Given the description of an element on the screen output the (x, y) to click on. 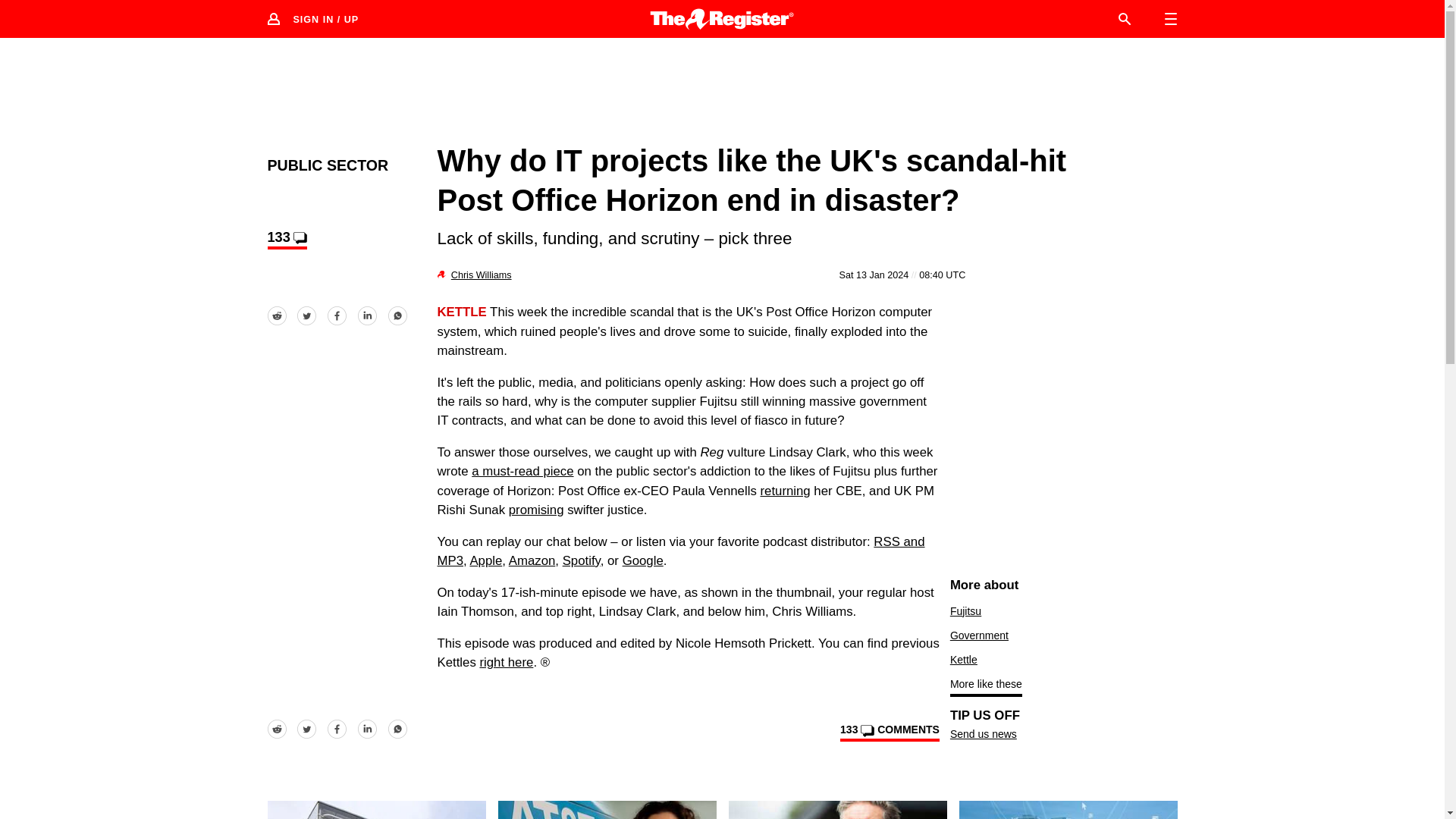
View comments on this article (889, 732)
View comments on this article (285, 239)
Read more by this author (481, 274)
